Given the description of an element on the screen output the (x, y) to click on. 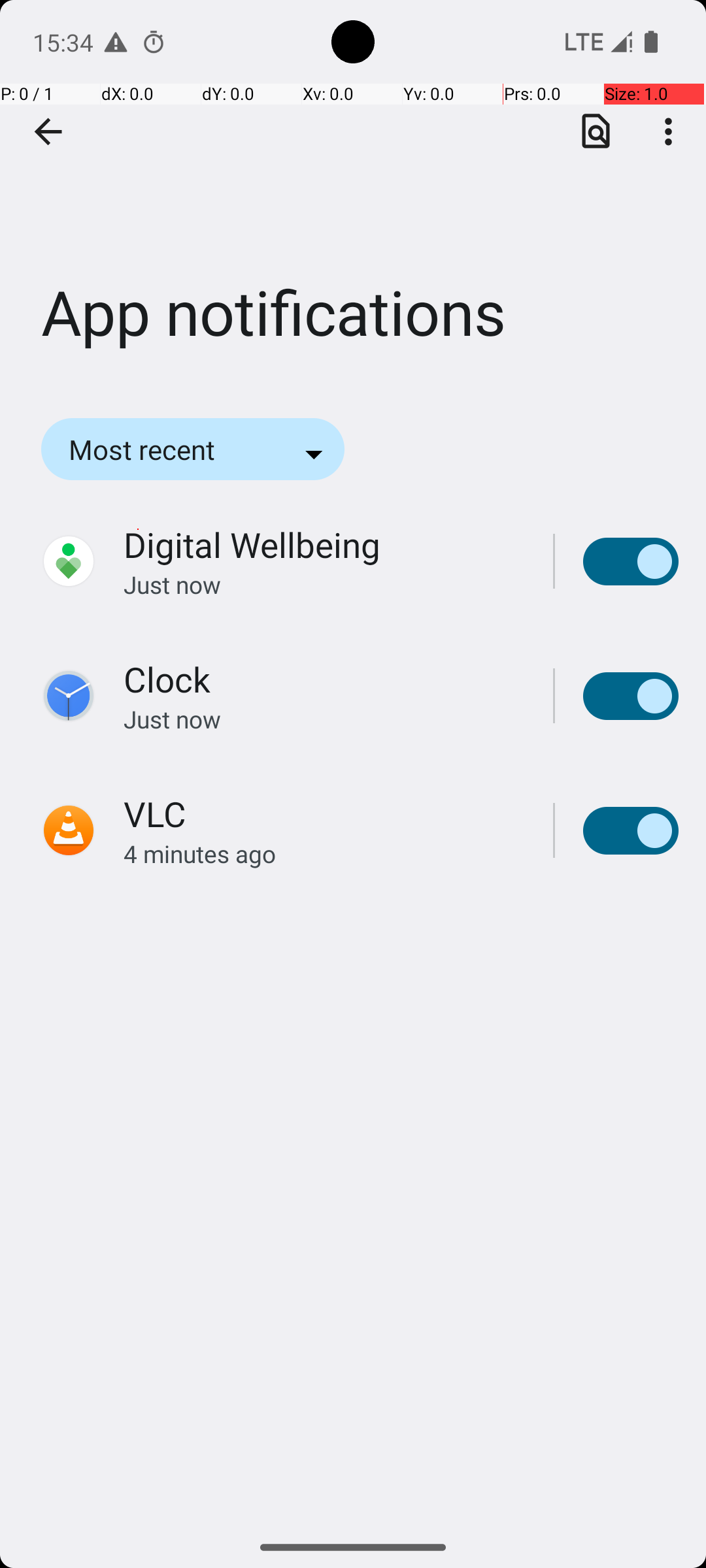
App notifications Element type: android.widget.FrameLayout (353, 195)
Most recent Element type: android.widget.TextView (159, 448)
Digital Wellbeing Element type: android.widget.TextView (252, 544)
Just now Element type: android.widget.TextView (324, 584)
4 minutes ago Element type: android.widget.TextView (324, 853)
